Given the description of an element on the screen output the (x, y) to click on. 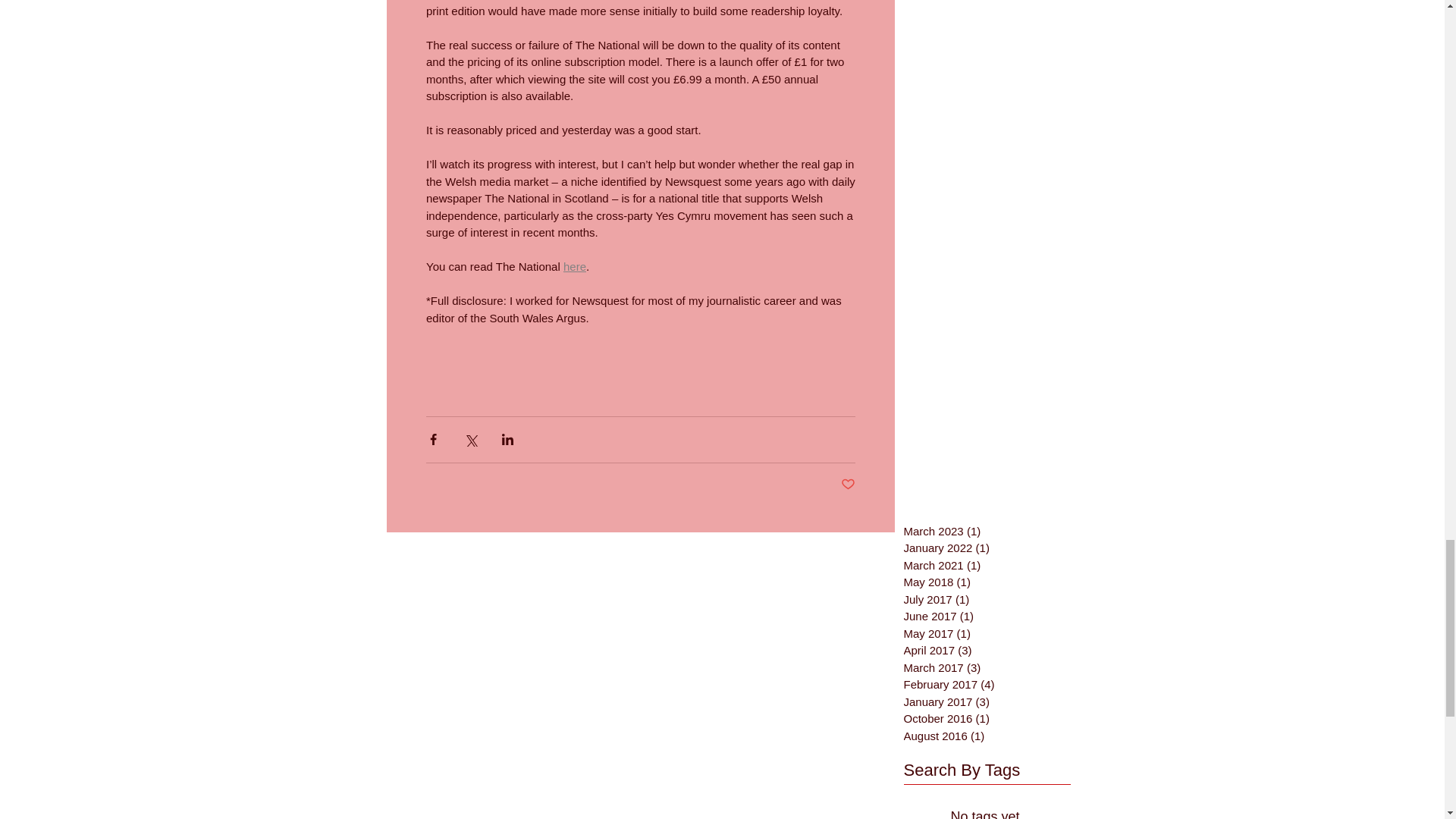
here (573, 266)
Post not marked as liked (847, 484)
